Given the description of an element on the screen output the (x, y) to click on. 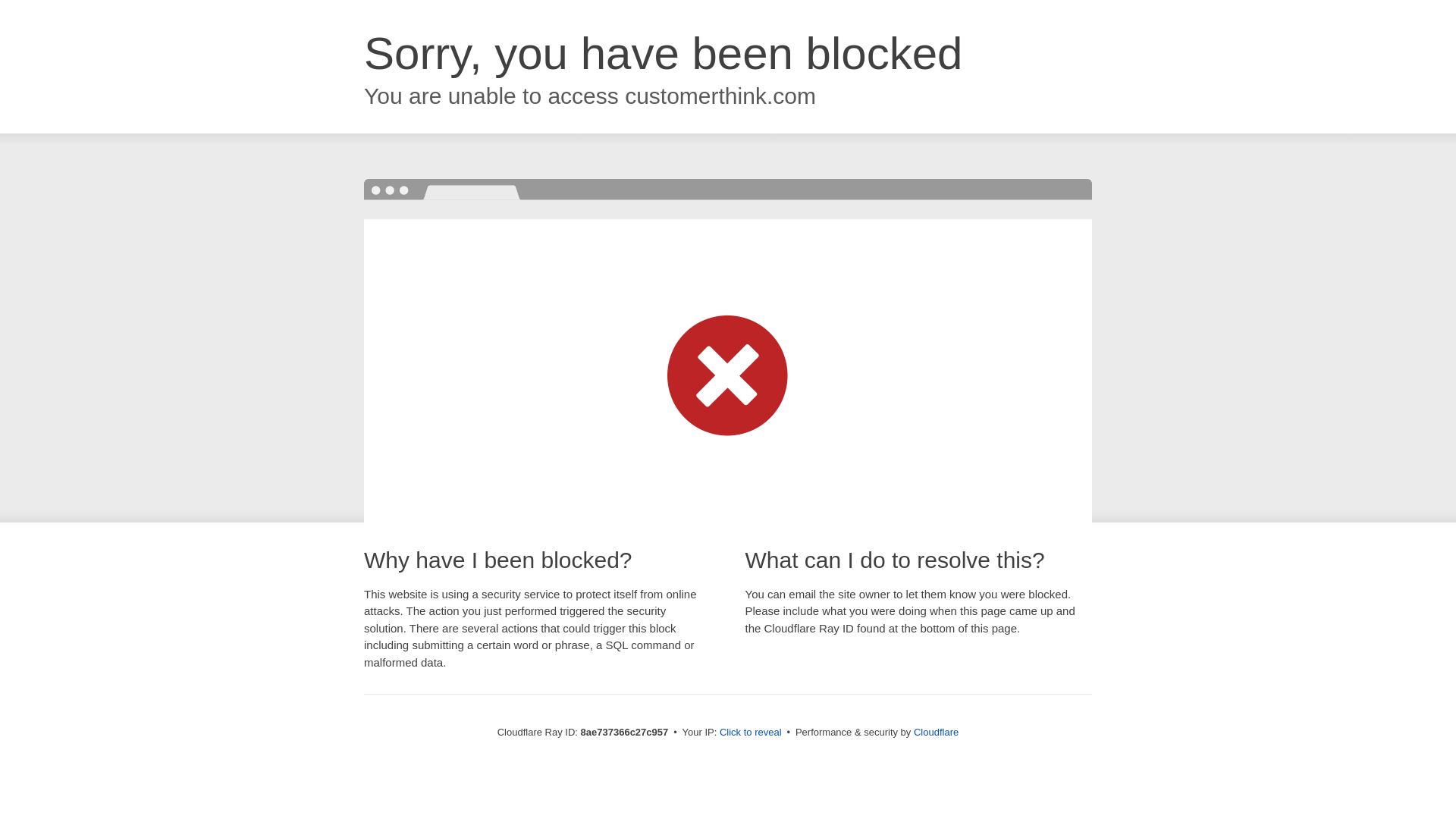
Cloudflare (936, 731)
Click to reveal (750, 732)
